Given the description of an element on the screen output the (x, y) to click on. 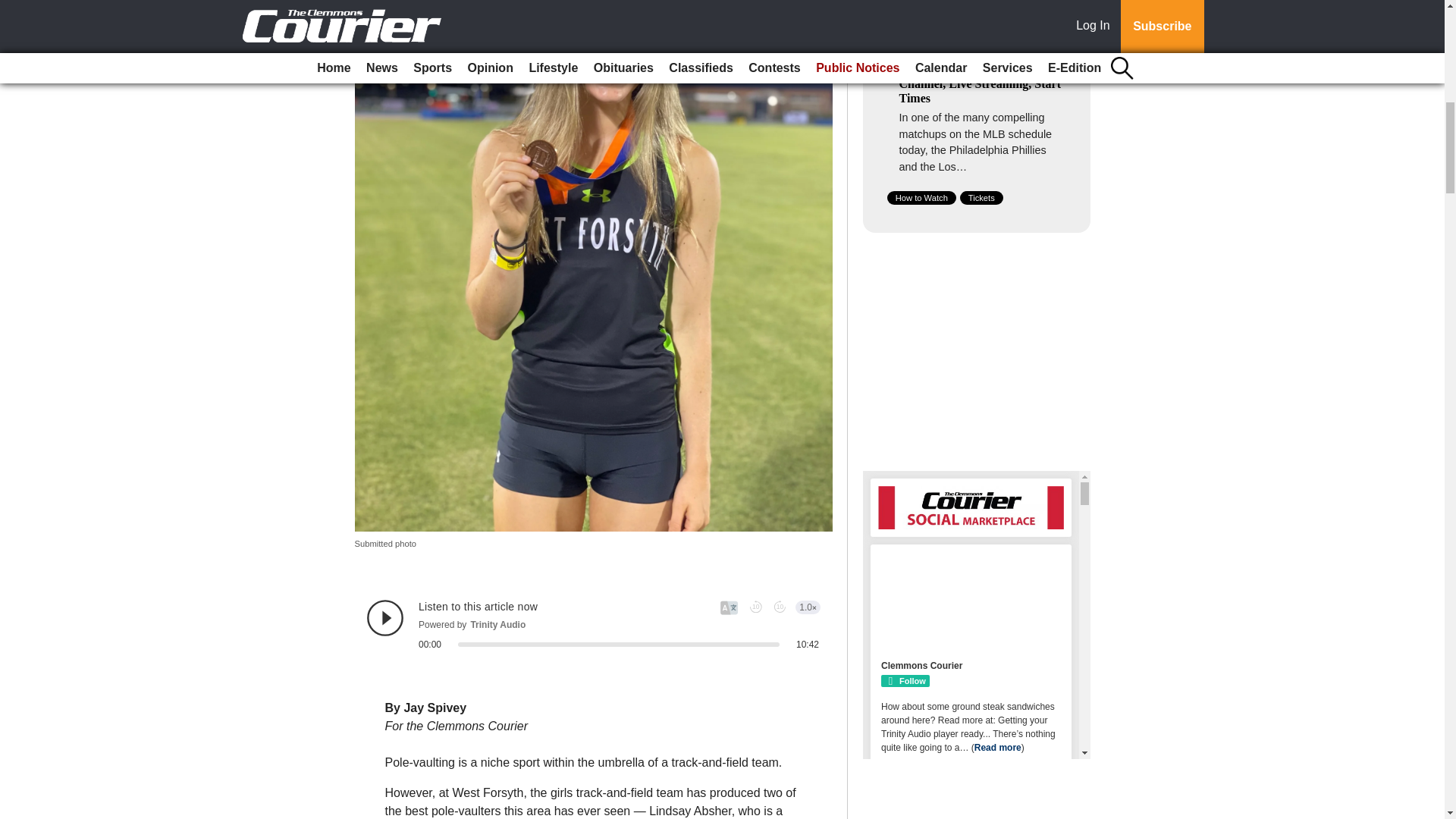
Trinity Audio Player (592, 624)
How to Watch (921, 197)
